Given the description of an element on the screen output the (x, y) to click on. 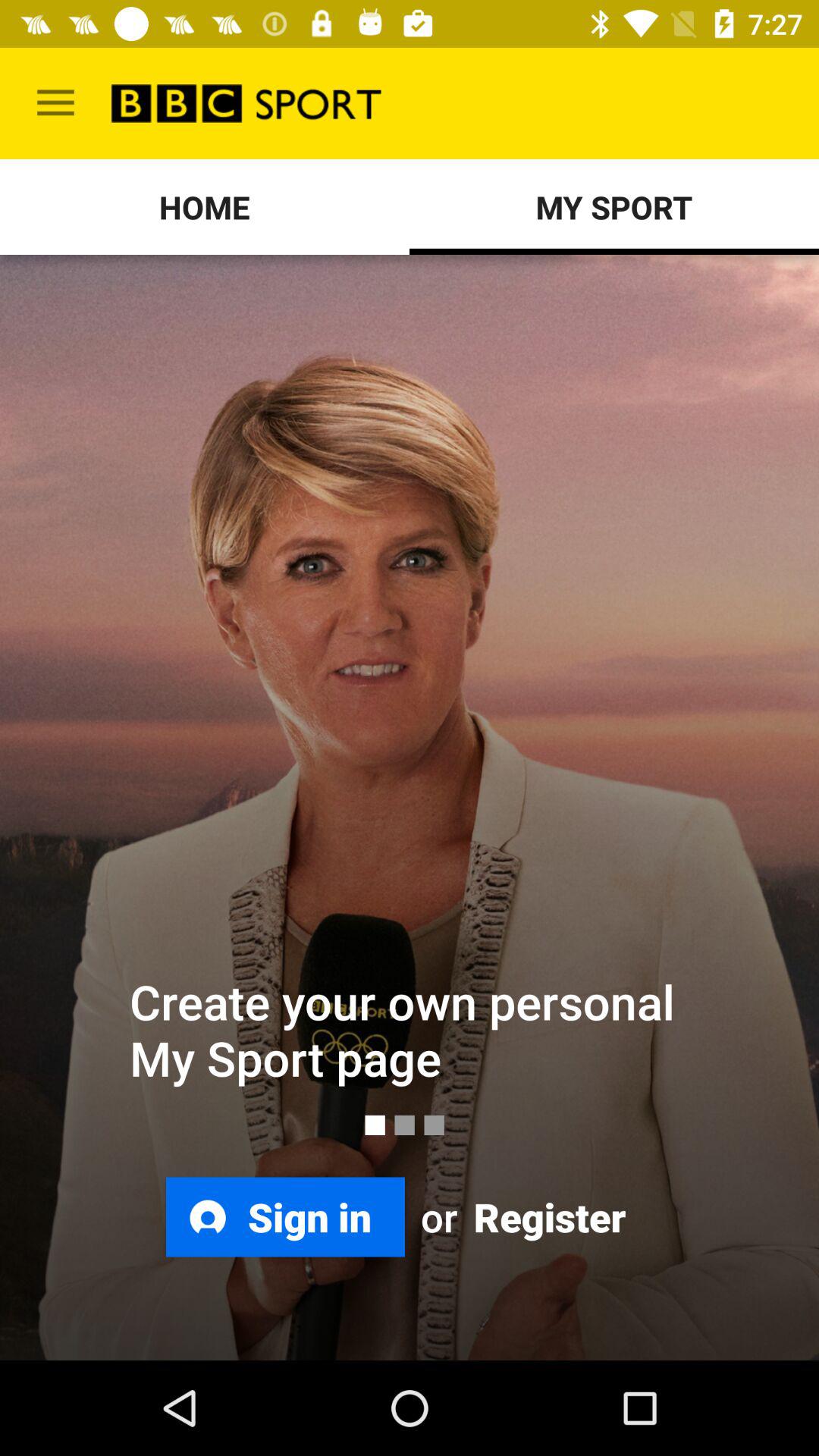
open item next to the my sport (204, 206)
